Given the description of an element on the screen output the (x, y) to click on. 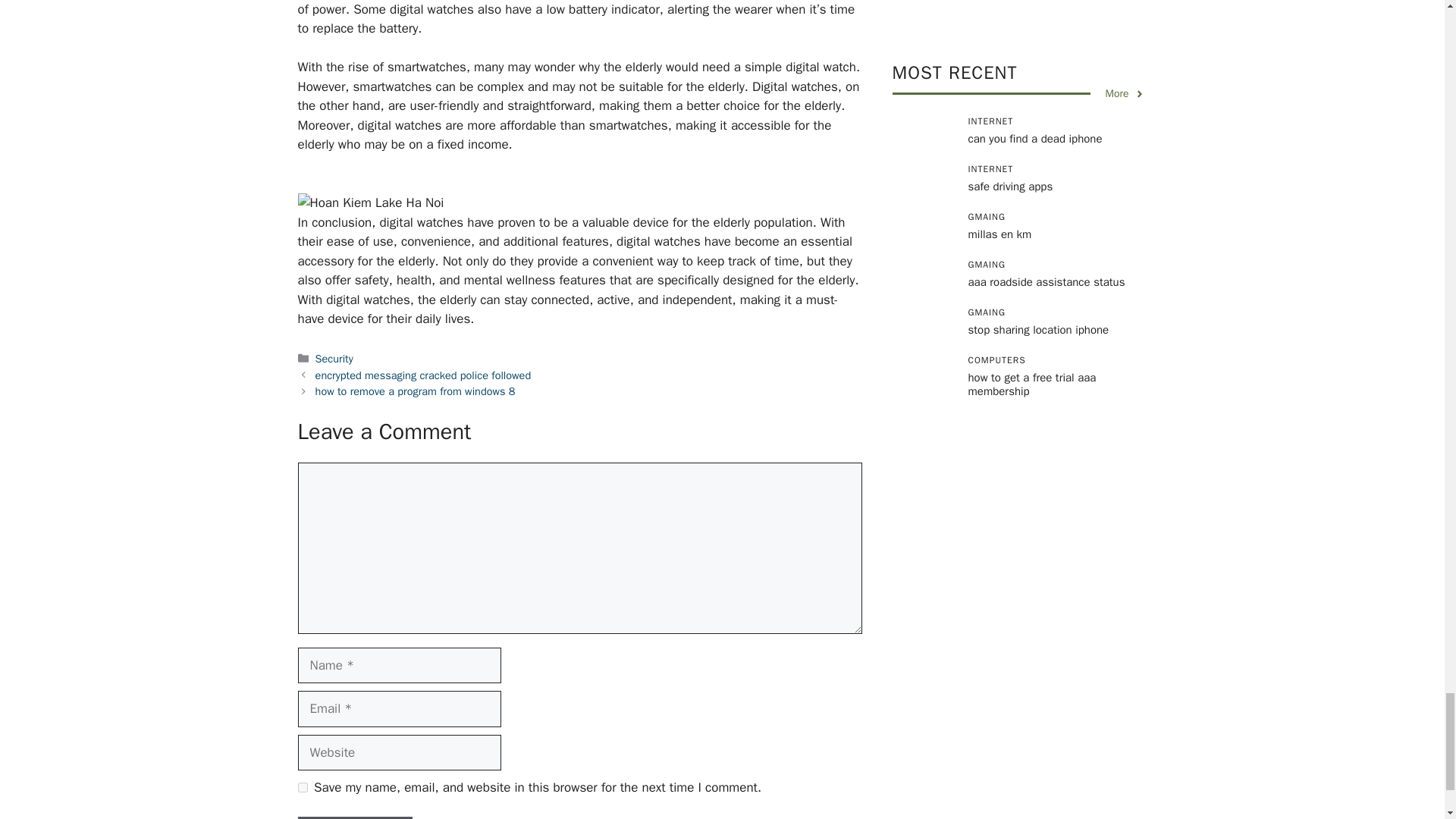
Security (334, 358)
yes (302, 787)
Hoan Kiem Lake Ha Noi (370, 202)
how to remove a program from windows 8 (415, 391)
Post Comment (354, 817)
Post Comment (354, 817)
encrypted messaging cracked police followed (423, 375)
